Given the description of an element on the screen output the (x, y) to click on. 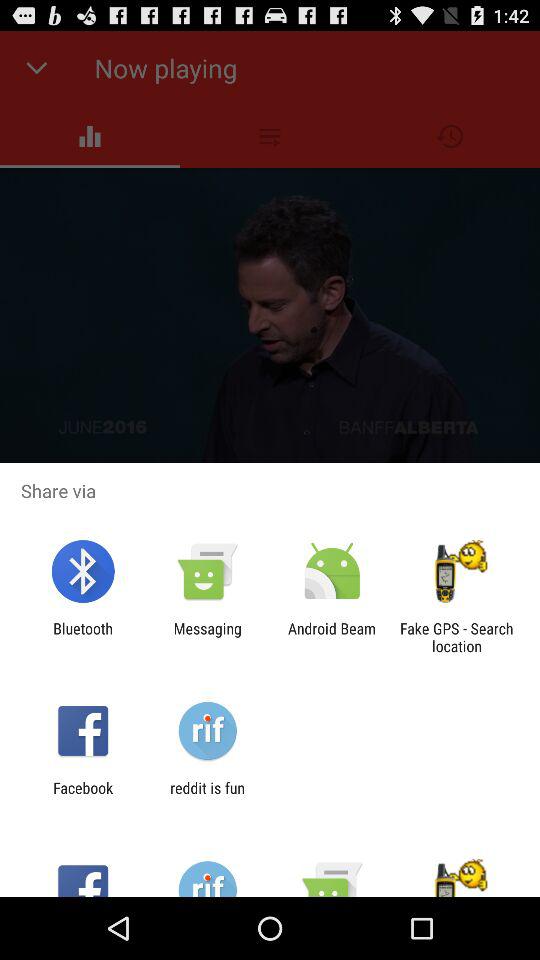
click app next to android beam icon (456, 637)
